Given the description of an element on the screen output the (x, y) to click on. 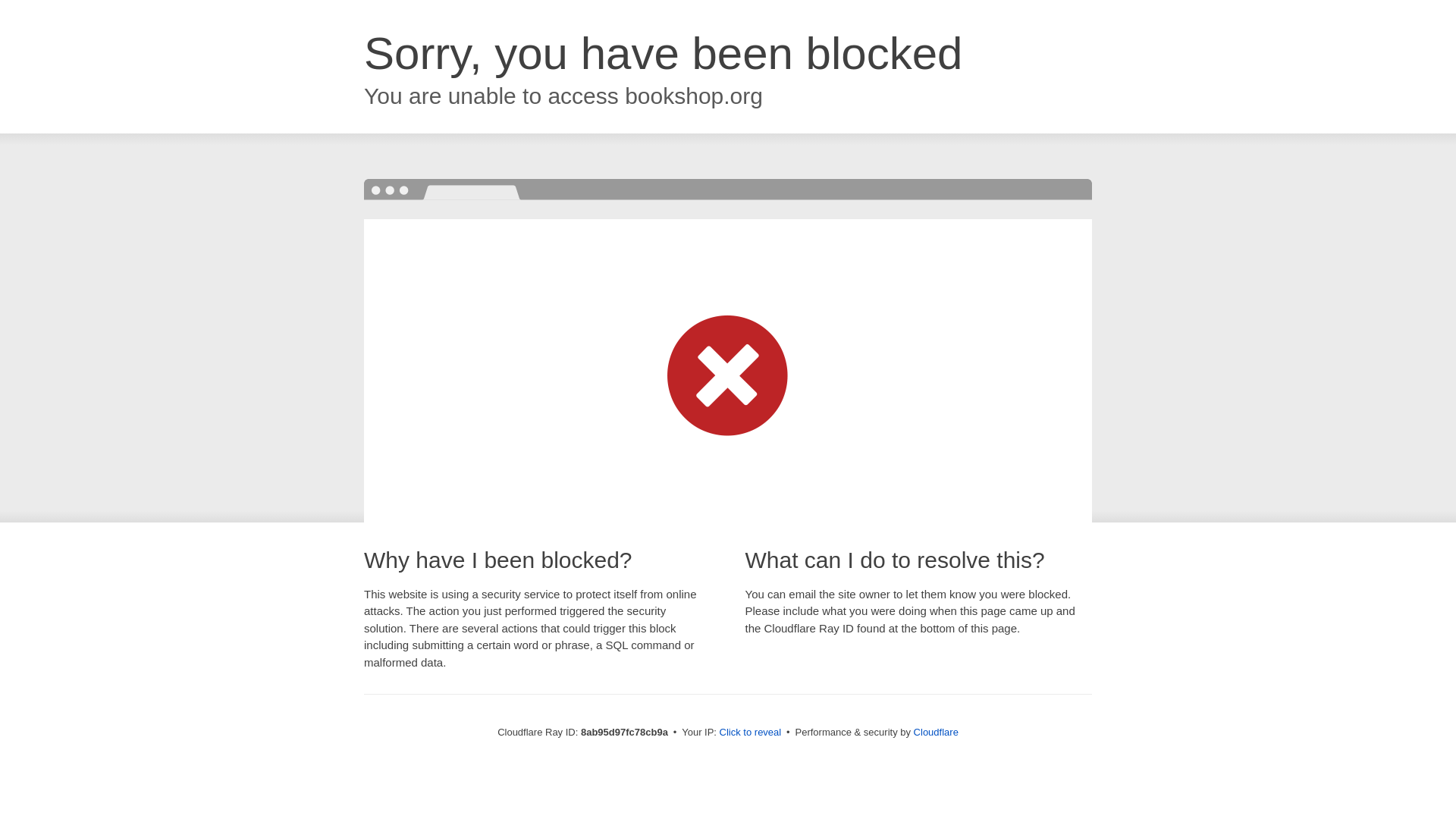
Cloudflare (936, 731)
Click to reveal (750, 732)
